Given the description of an element on the screen output the (x, y) to click on. 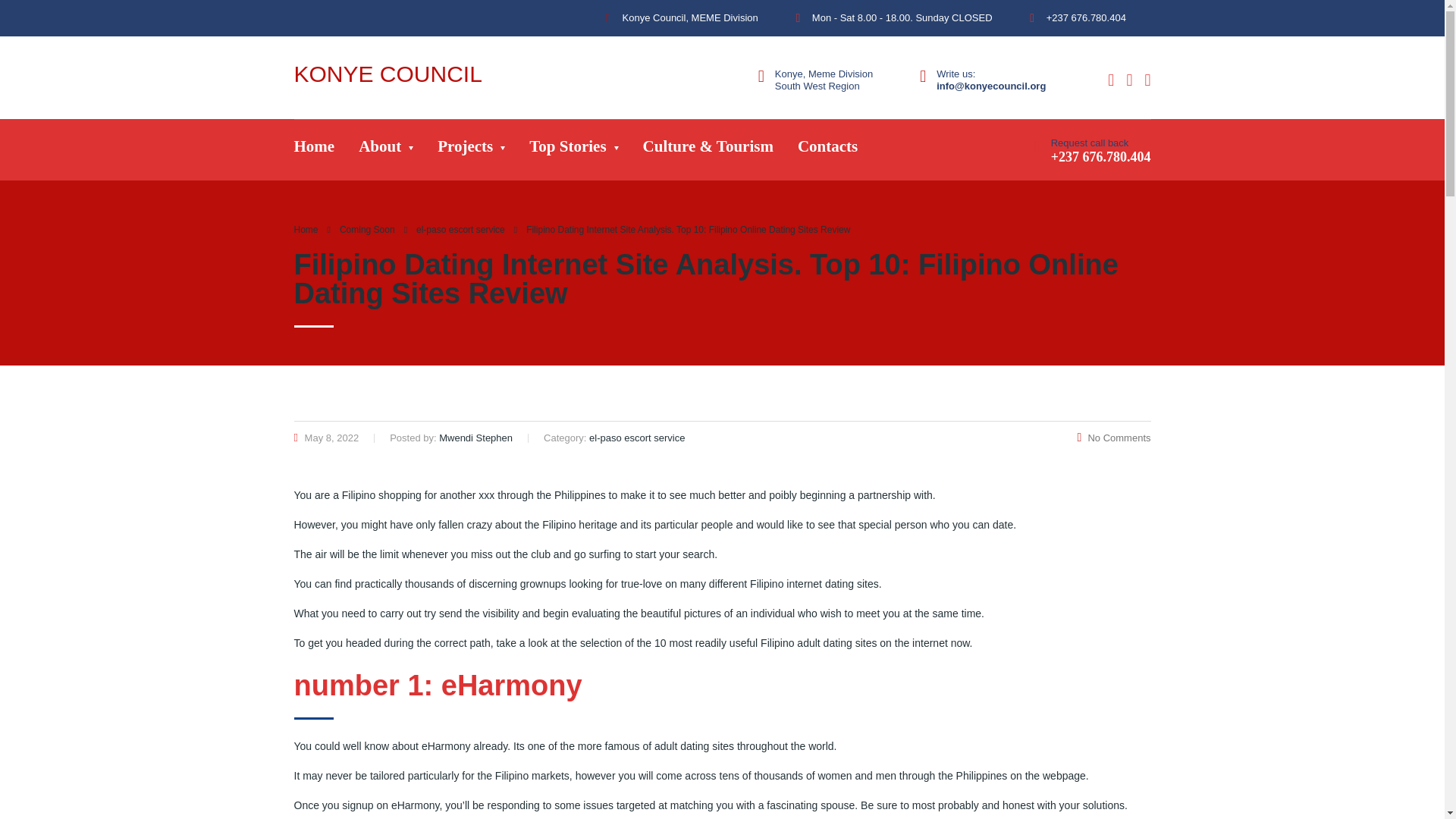
Home (314, 149)
Projects (470, 149)
Go to Konye Council. (306, 229)
Top Stories (573, 149)
Go to Coming Soon. (366, 229)
KONYE COUNCIL (387, 74)
Contacts (827, 149)
About (385, 149)
Go to the el-paso escort service category archives. (460, 229)
